Given the description of an element on the screen output the (x, y) to click on. 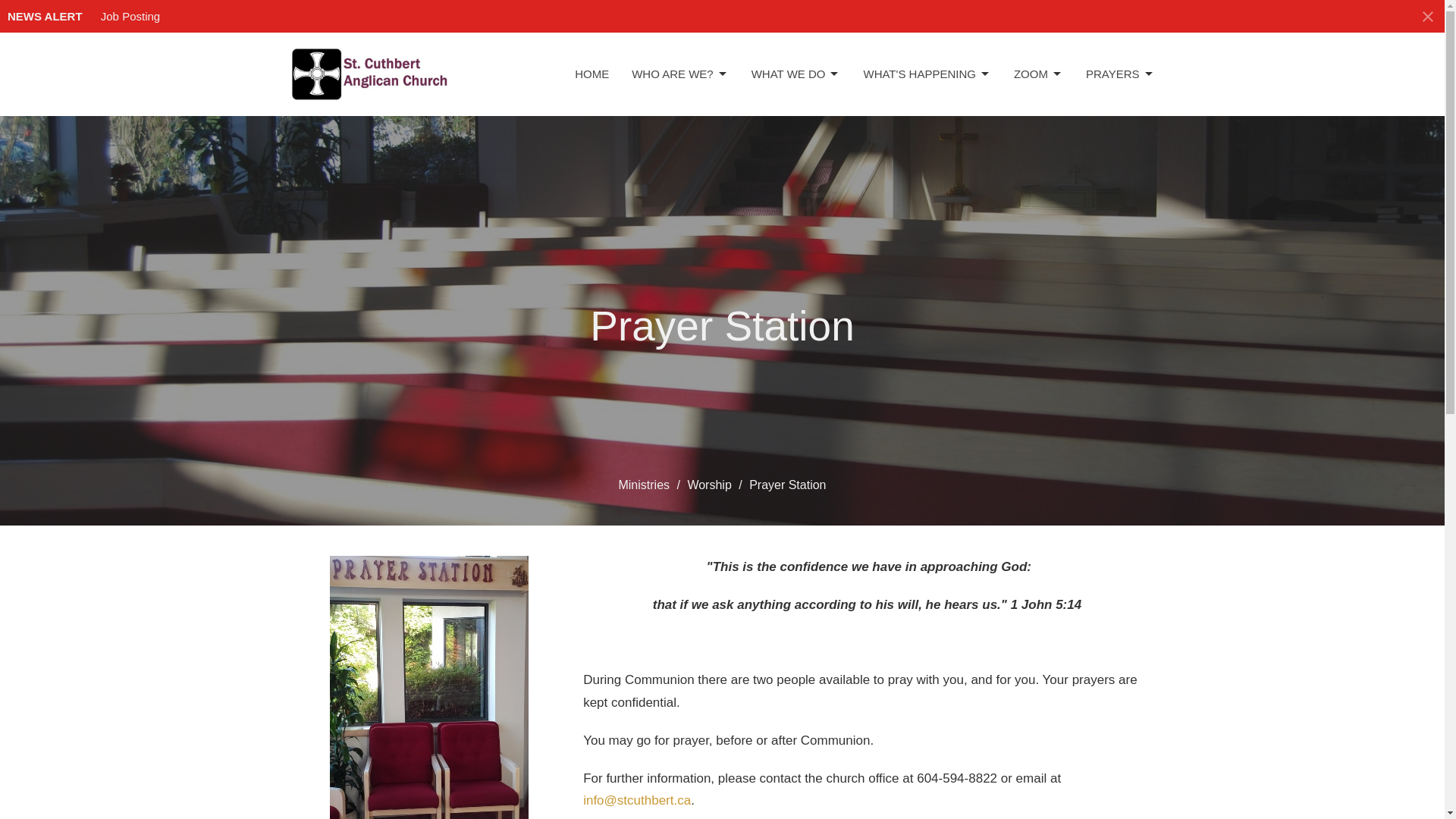
WHO ARE WE? (680, 73)
Worship (708, 484)
Ministries (643, 484)
HOME (591, 73)
WHAT WE DO (796, 73)
PRAYERS (1120, 73)
ZOOM (1037, 73)
Job Posting (130, 15)
WHAT'S HAPPENING (926, 73)
